Given the description of an element on the screen output the (x, y) to click on. 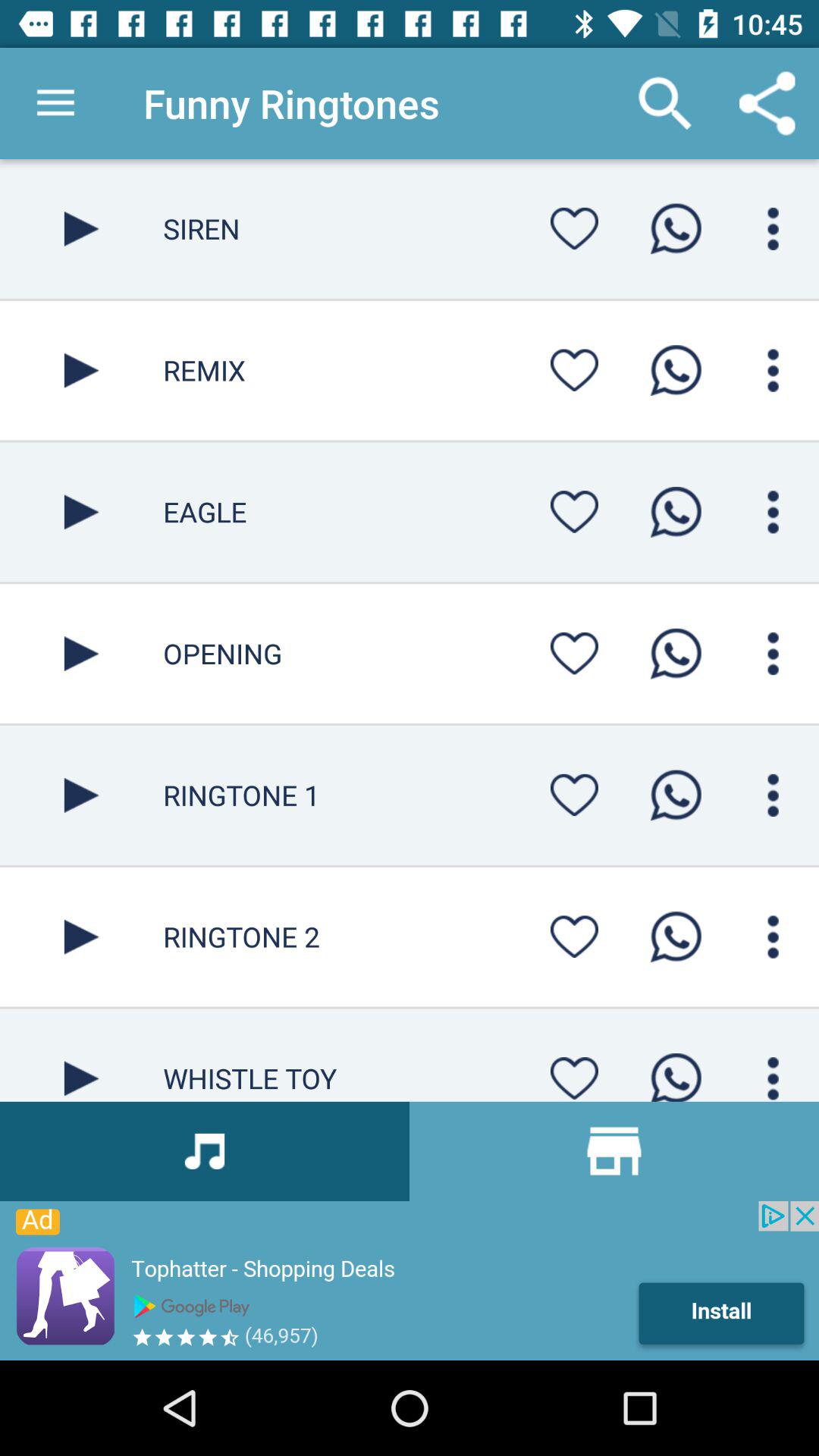
play page (81, 370)
